Given the description of an element on the screen output the (x, y) to click on. 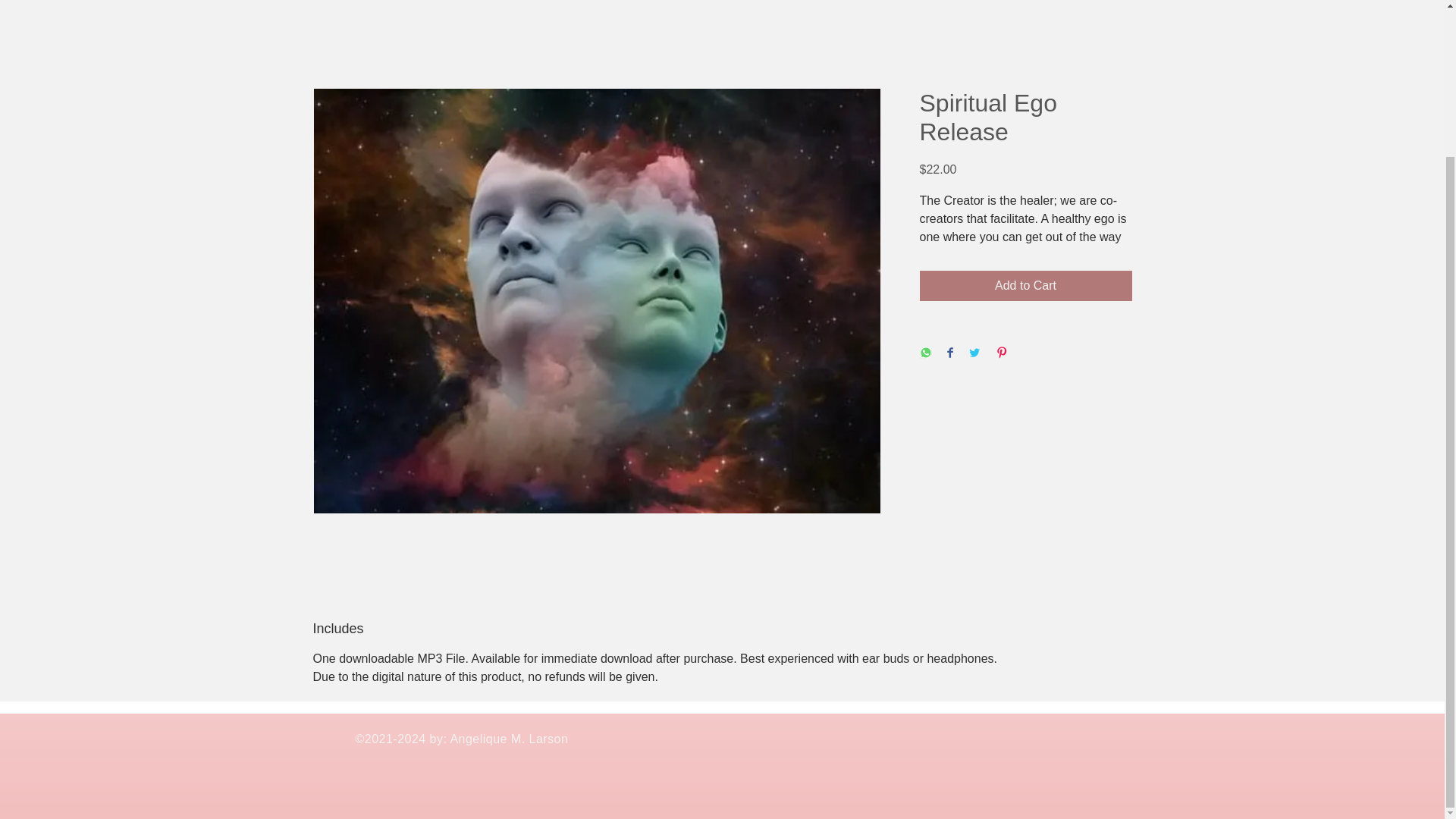
Smile.io Rewards Program Launcher (69, 596)
Add to Cart (1024, 286)
